Given the description of an element on the screen output the (x, y) to click on. 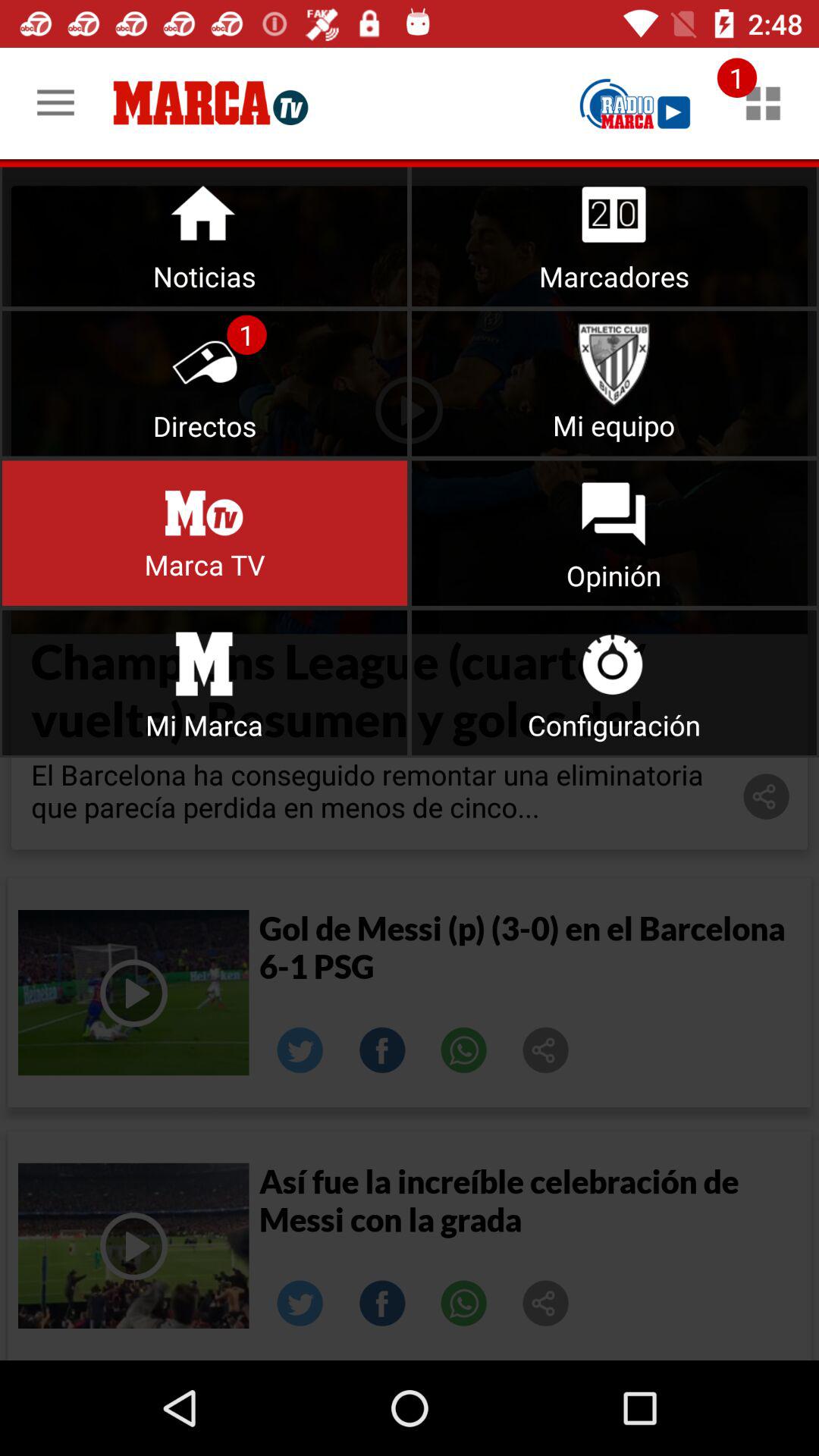
toggle play video (133, 992)
